Given the description of an element on the screen output the (x, y) to click on. 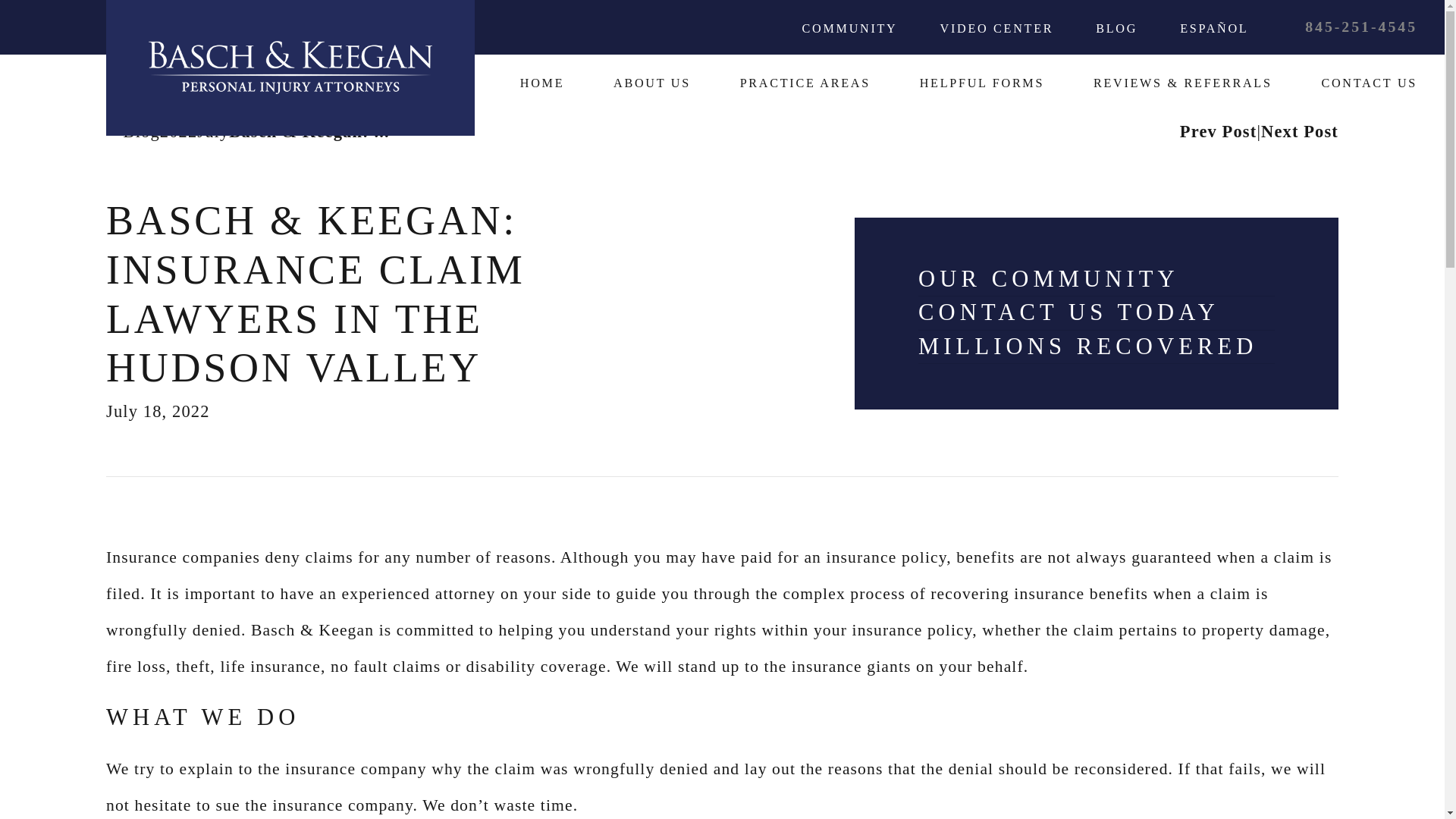
Go Home (114, 131)
COMMUNITY (850, 29)
BLOG (1116, 29)
VIDEO CENTER (997, 29)
PRACTICE AREAS (804, 83)
845-251-4545 (1360, 27)
ABOUT US (651, 83)
Open the accessibility options menu (31, 786)
HOME (541, 83)
